Given the description of an element on the screen output the (x, y) to click on. 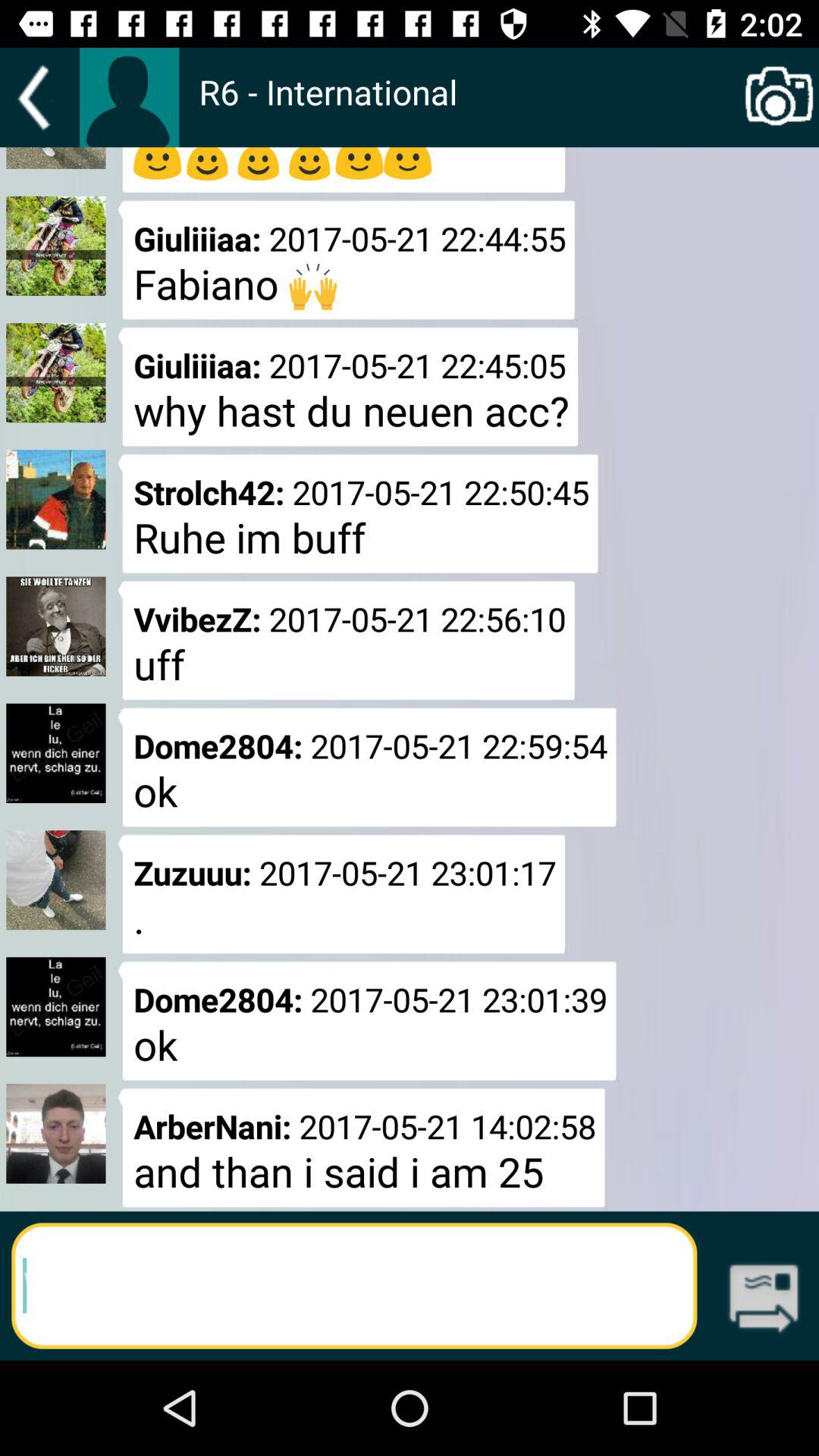
open arbernani 2017 05 icon (361, 1147)
